Given the description of an element on the screen output the (x, y) to click on. 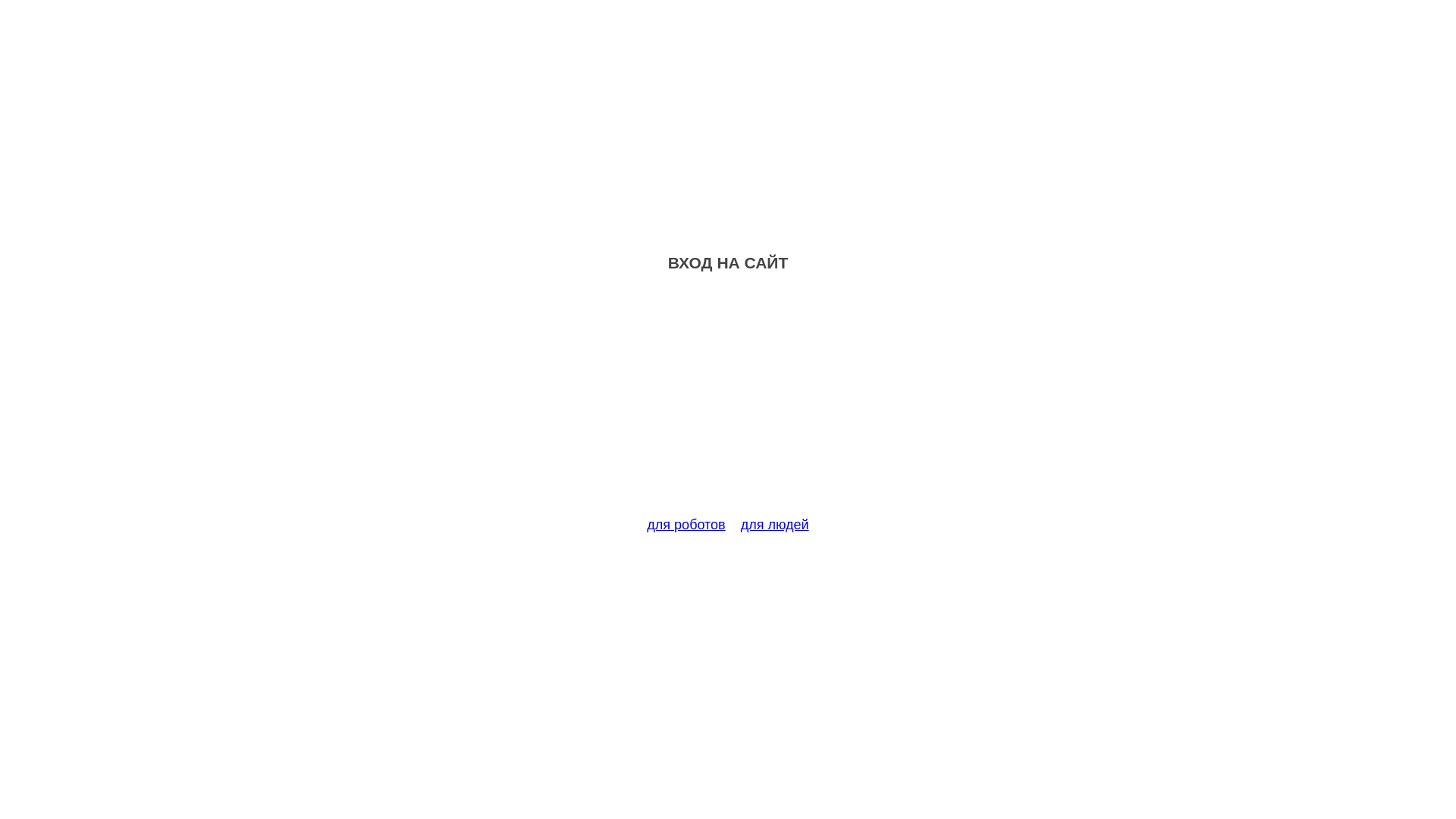
Advertisement Element type: hover (727, 403)
